Given the description of an element on the screen output the (x, y) to click on. 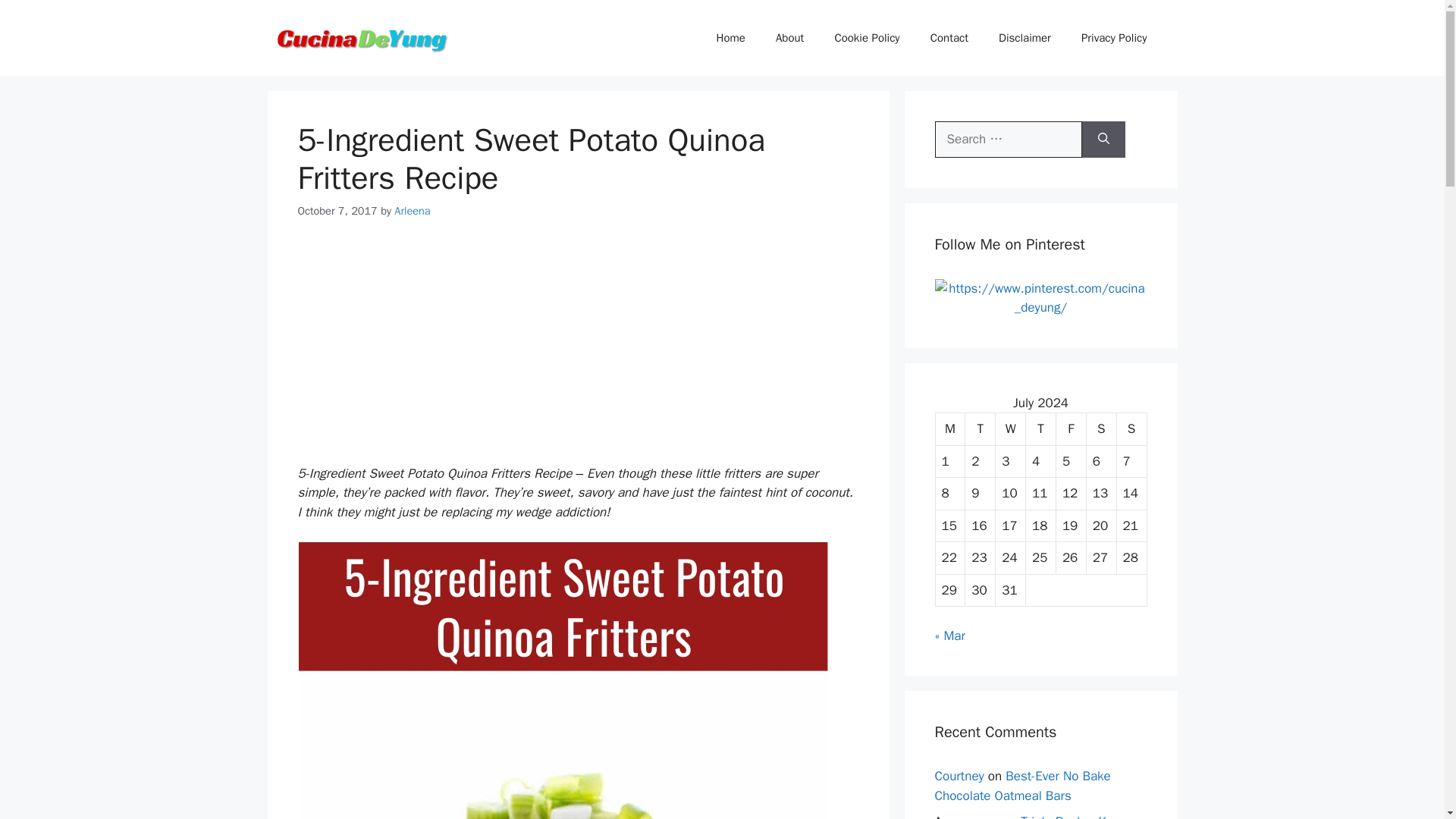
View all posts by Arleena (411, 210)
Tuesday (980, 429)
Home (730, 37)
Arleena (411, 210)
Monday (951, 429)
Triple Decker Key Lime Pie (1026, 816)
Cookie Policy (866, 37)
Privacy Policy (1113, 37)
Search for: (1007, 139)
Best-Ever No Bake Chocolate Oatmeal Bars (1021, 785)
Advertisement (578, 351)
Contact (949, 37)
Courtney (959, 775)
About (789, 37)
Disclaimer (1024, 37)
